Given the description of an element on the screen output the (x, y) to click on. 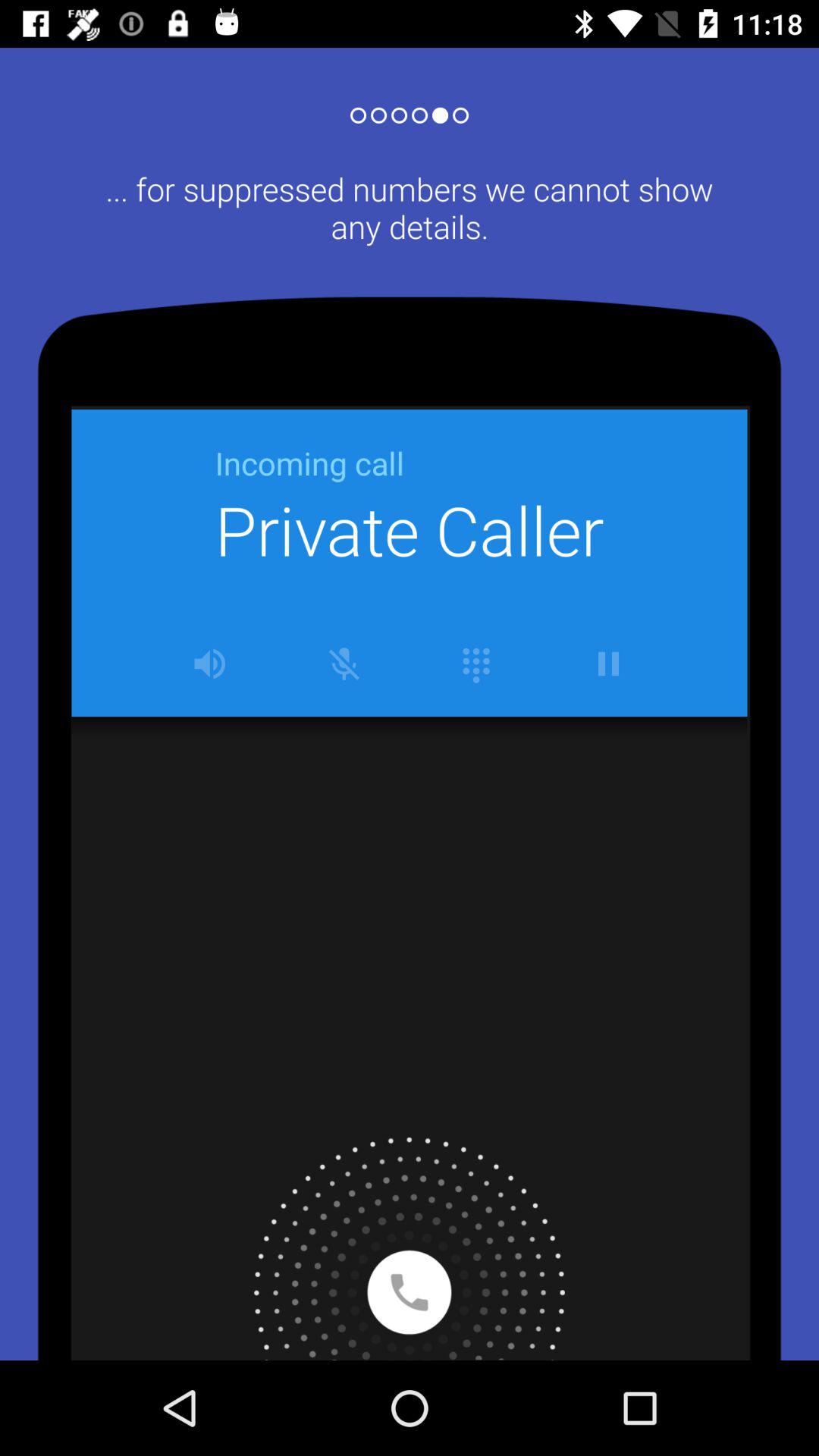
select the six dots on the top of the page (409, 109)
